Given the description of an element on the screen output the (x, y) to click on. 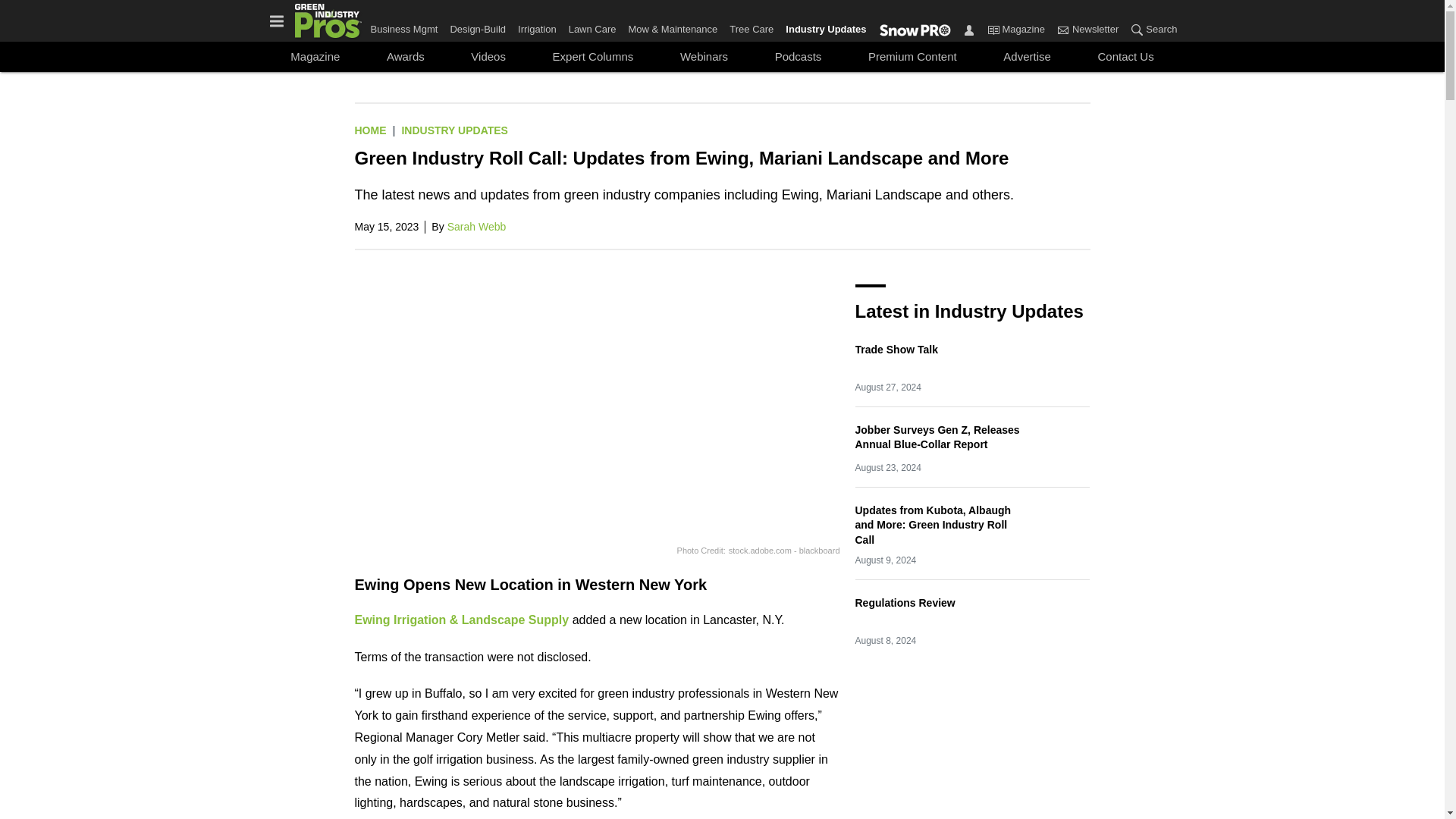
Awards (405, 56)
Business Mgmt (406, 26)
Newsletter (1062, 29)
Magazine (992, 29)
Advertise (1026, 56)
Lawn Care (592, 26)
Irrigation (537, 26)
Contact Us (1126, 56)
Expert Columns (592, 56)
Design-Build (478, 26)
